Given the description of an element on the screen output the (x, y) to click on. 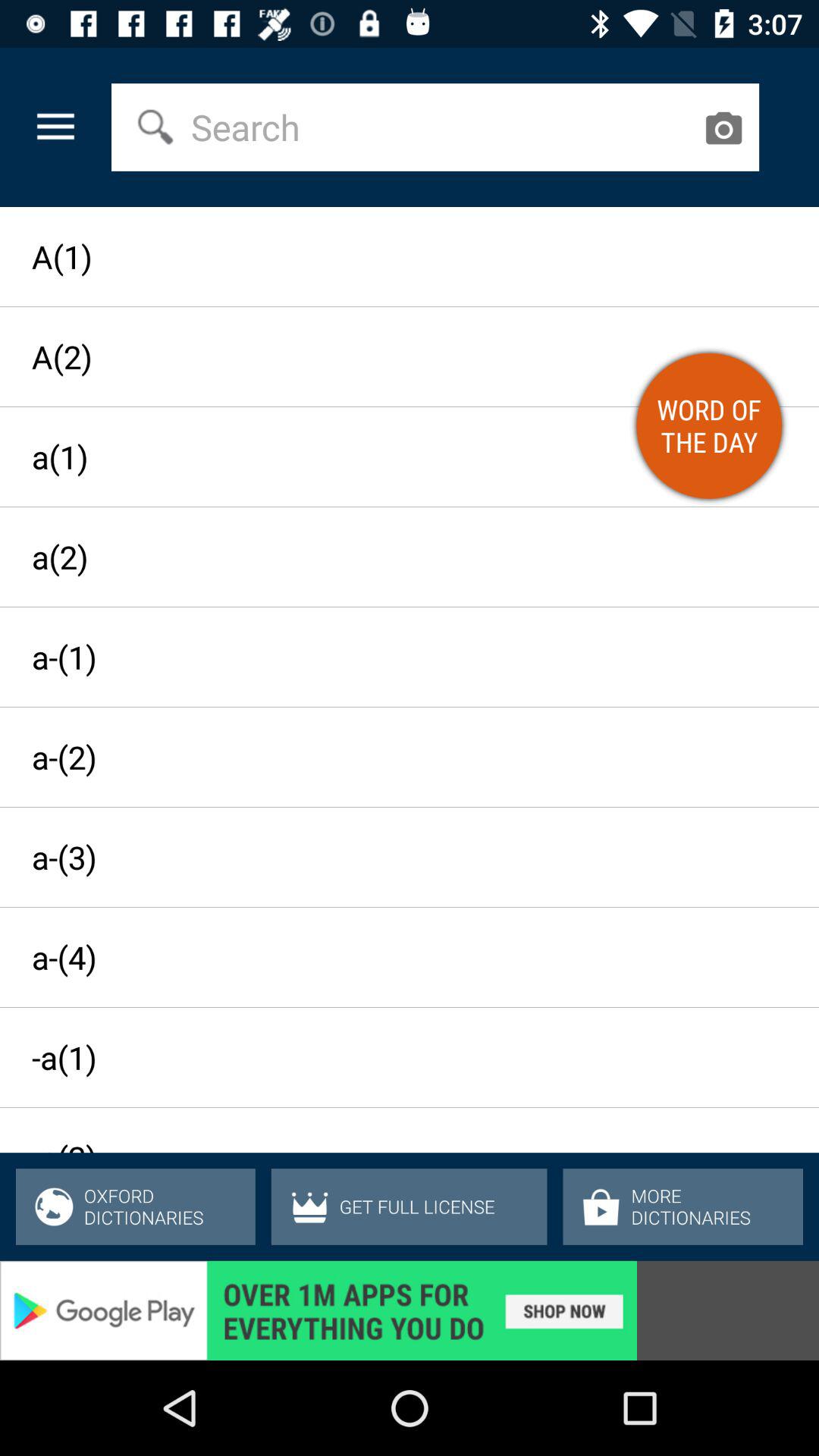
advertisement link (409, 1310)
